Given the description of an element on the screen output the (x, y) to click on. 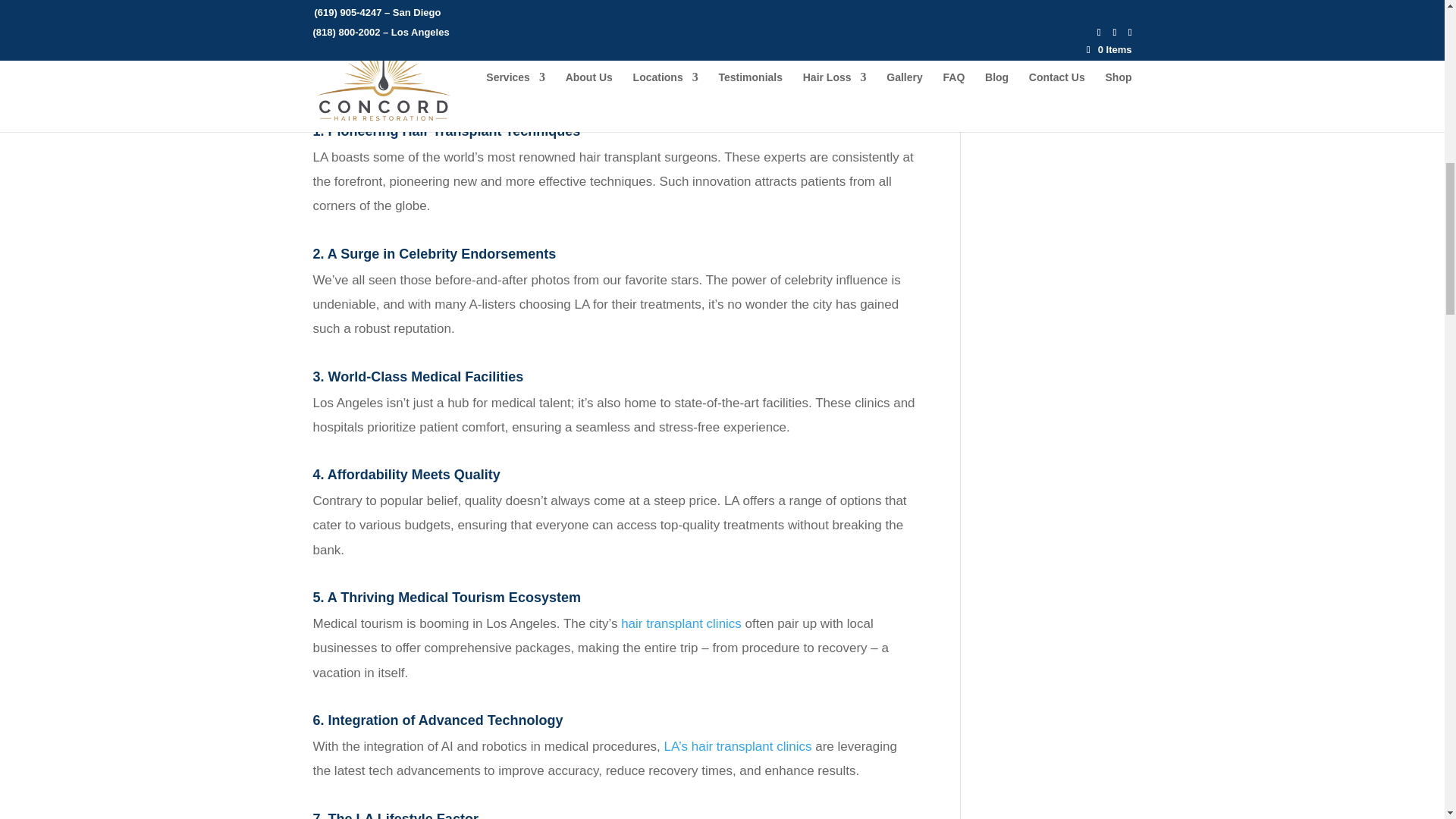
hair transplant clinics (681, 623)
